Given the description of an element on the screen output the (x, y) to click on. 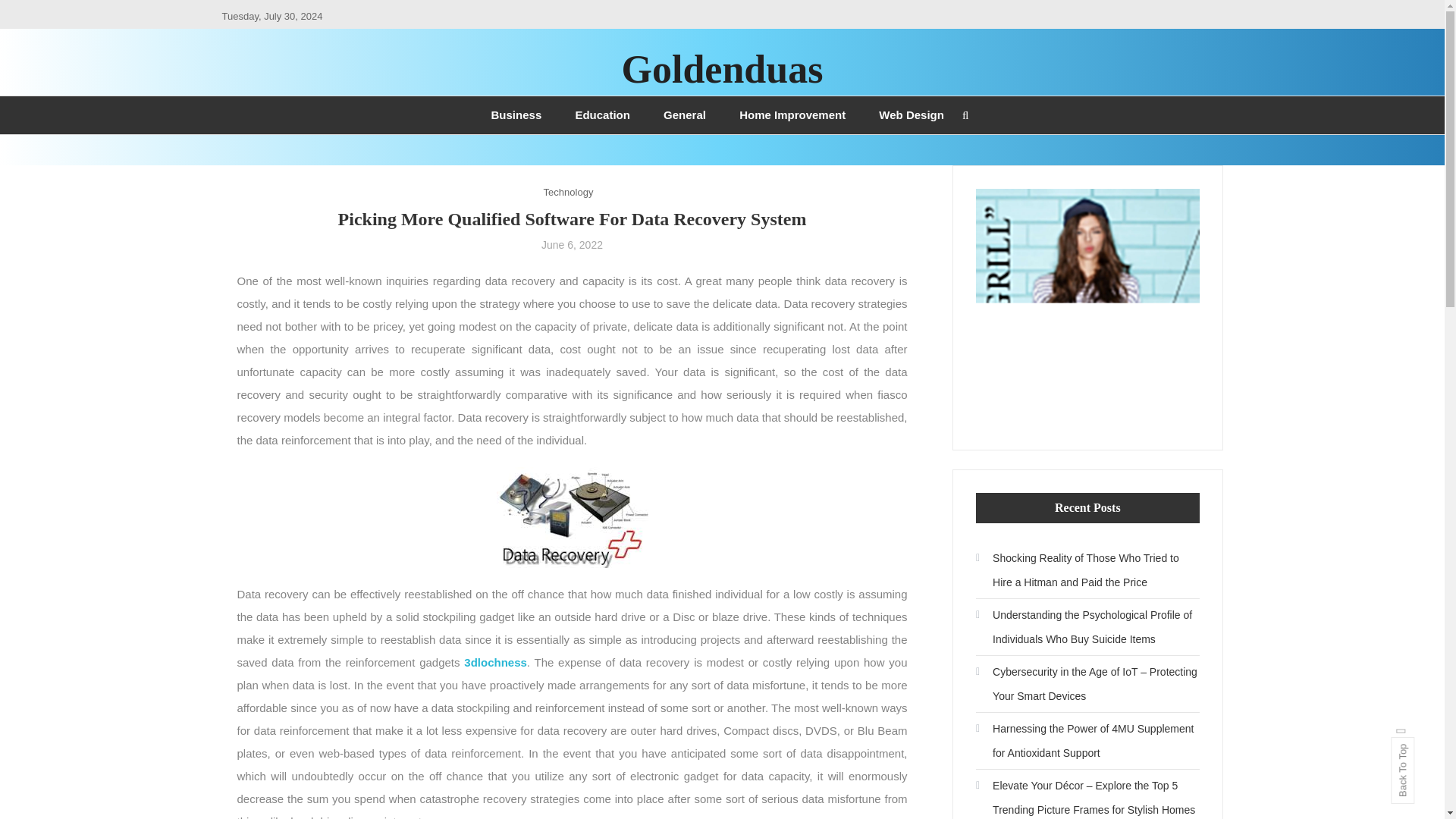
Goldenduas (722, 68)
3dlochness (495, 662)
June 6, 2022 (571, 244)
Education (602, 115)
General (683, 115)
Business (516, 115)
Technology (568, 191)
Home Improvement (791, 115)
Search (768, 432)
Web Design (911, 115)
